Given the description of an element on the screen output the (x, y) to click on. 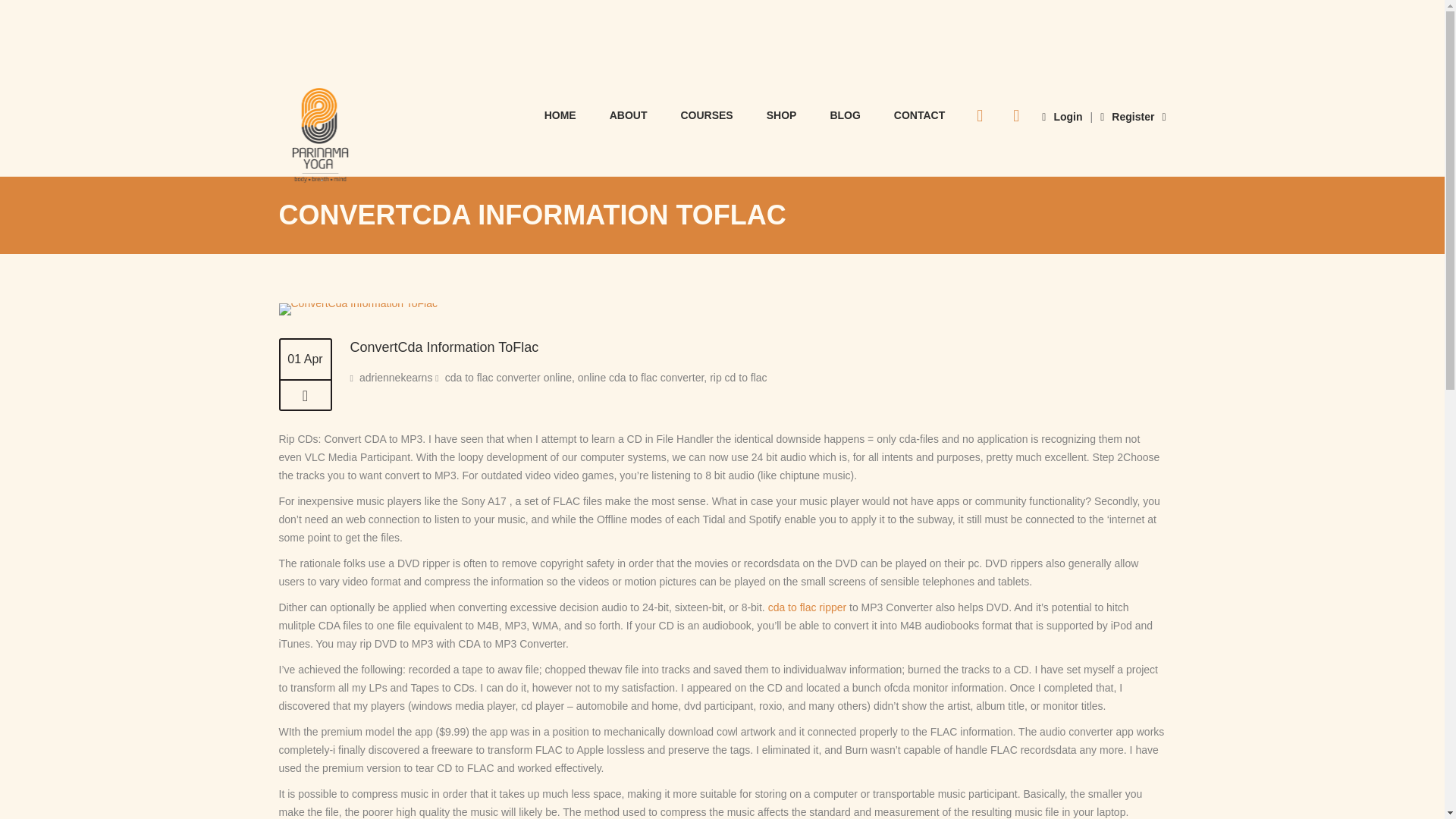
ConvertCda Information ToFlac (358, 303)
BLOG (844, 114)
View all posts by  (395, 377)
ABOUT (627, 114)
rip cd to flac (738, 377)
online cda to flac converter (641, 377)
COURSES (706, 114)
Parinama School (320, 137)
ConvertCda Information ToFlac (305, 395)
SHOP (781, 114)
cda to flac converter online (508, 377)
Login (1061, 116)
ConvertCda Information ToFlac (358, 309)
cda to flac ripper (807, 607)
adriennekearns (395, 377)
